Given the description of an element on the screen output the (x, y) to click on. 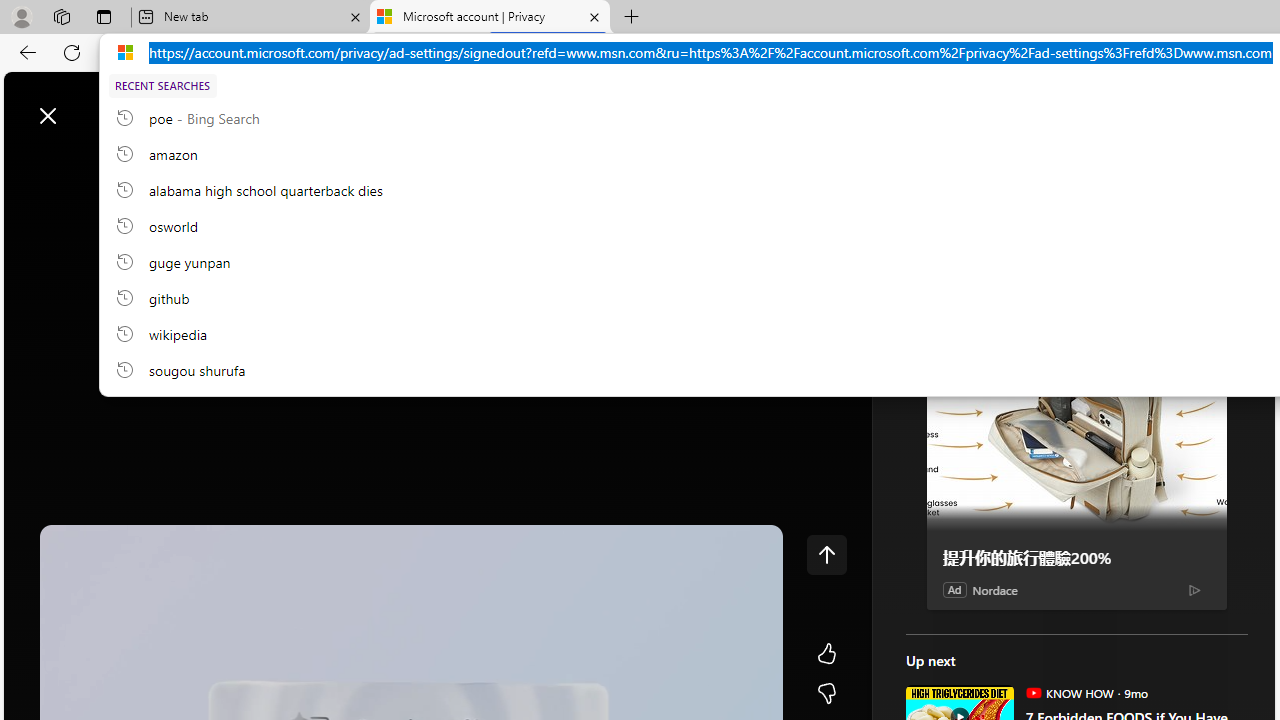
Comments (1165, 114)
Class: button-glyph (29, 162)
ABC News (974, 557)
